Given the description of an element on the screen output the (x, y) to click on. 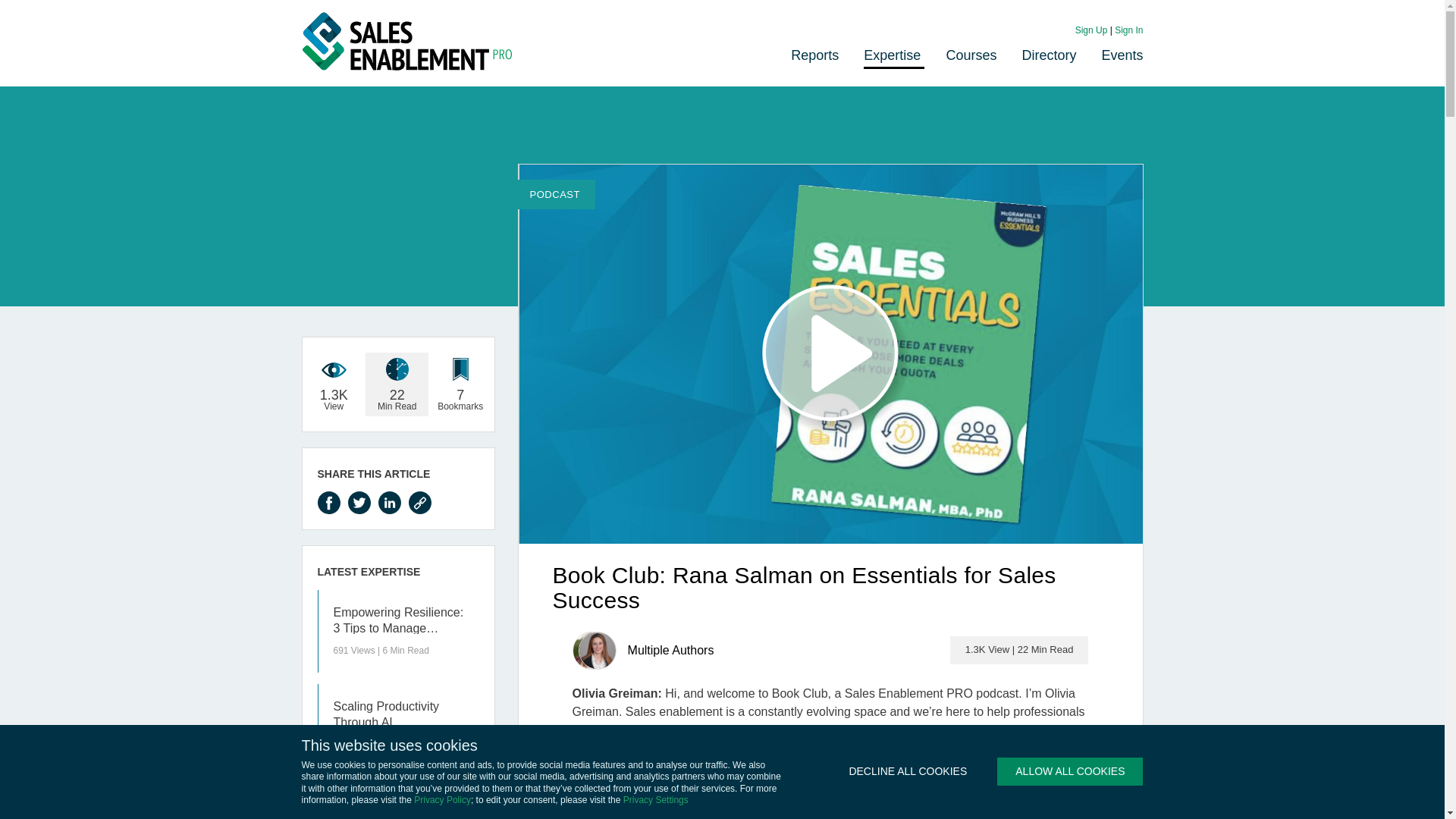
Sign Up (1091, 30)
ALLOW ALL COOKIES (1069, 771)
Privacy Policy (441, 799)
Directory (1048, 55)
DECLINE ALL COOKIES (907, 771)
Courses (969, 55)
Expertise (891, 55)
Privacy Settings (655, 799)
Reports (814, 55)
